Given the description of an element on the screen output the (x, y) to click on. 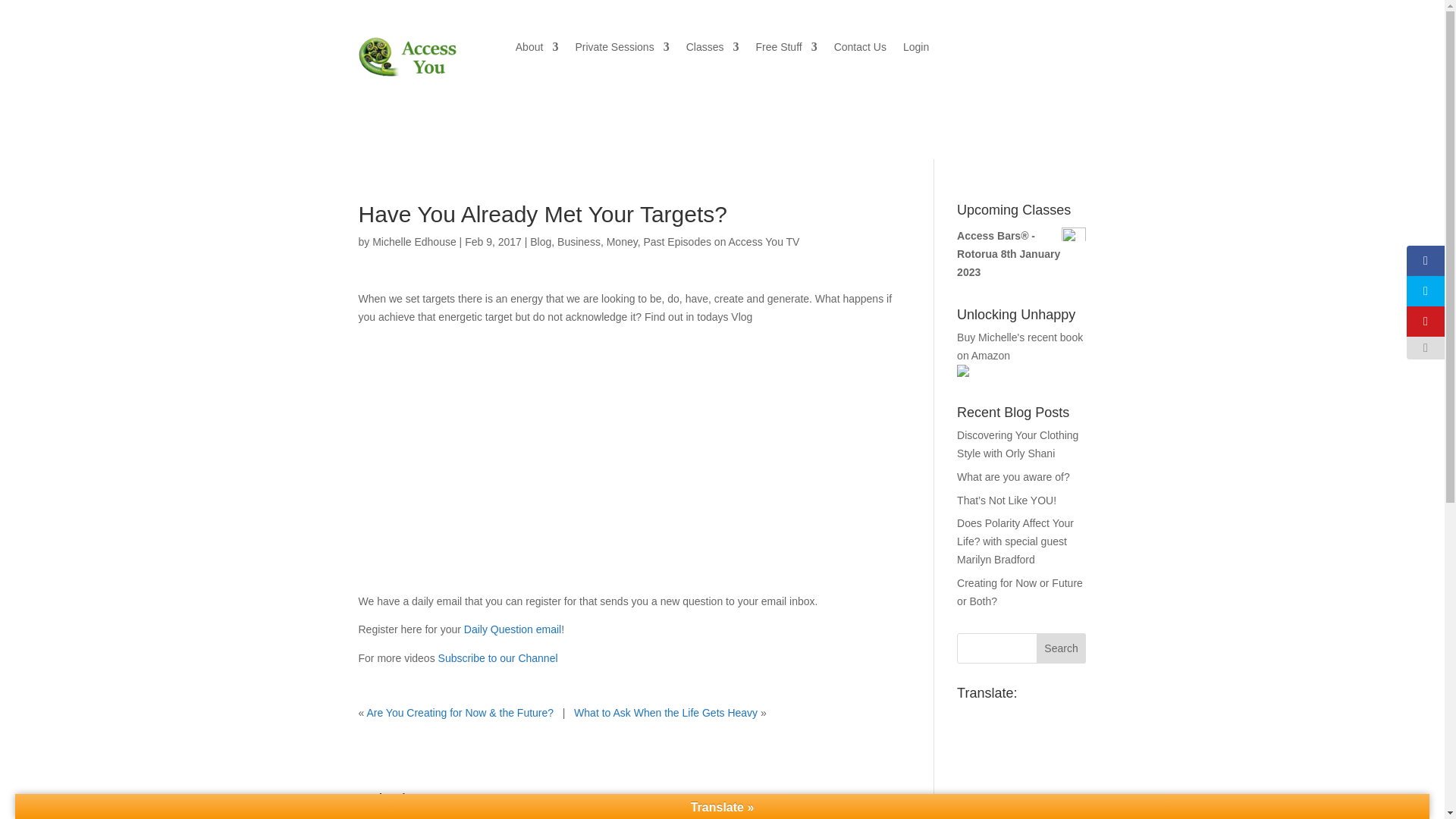
Money (622, 241)
Classes (712, 49)
Posts by Michelle Edhouse (414, 241)
Free Stuff (785, 49)
About (537, 49)
Michelle Edhouse (414, 241)
Private Sessions (621, 49)
Blog (540, 241)
What to Ask When the Life Gets Heavy (665, 712)
Daily Question email (512, 629)
